Given the description of an element on the screen output the (x, y) to click on. 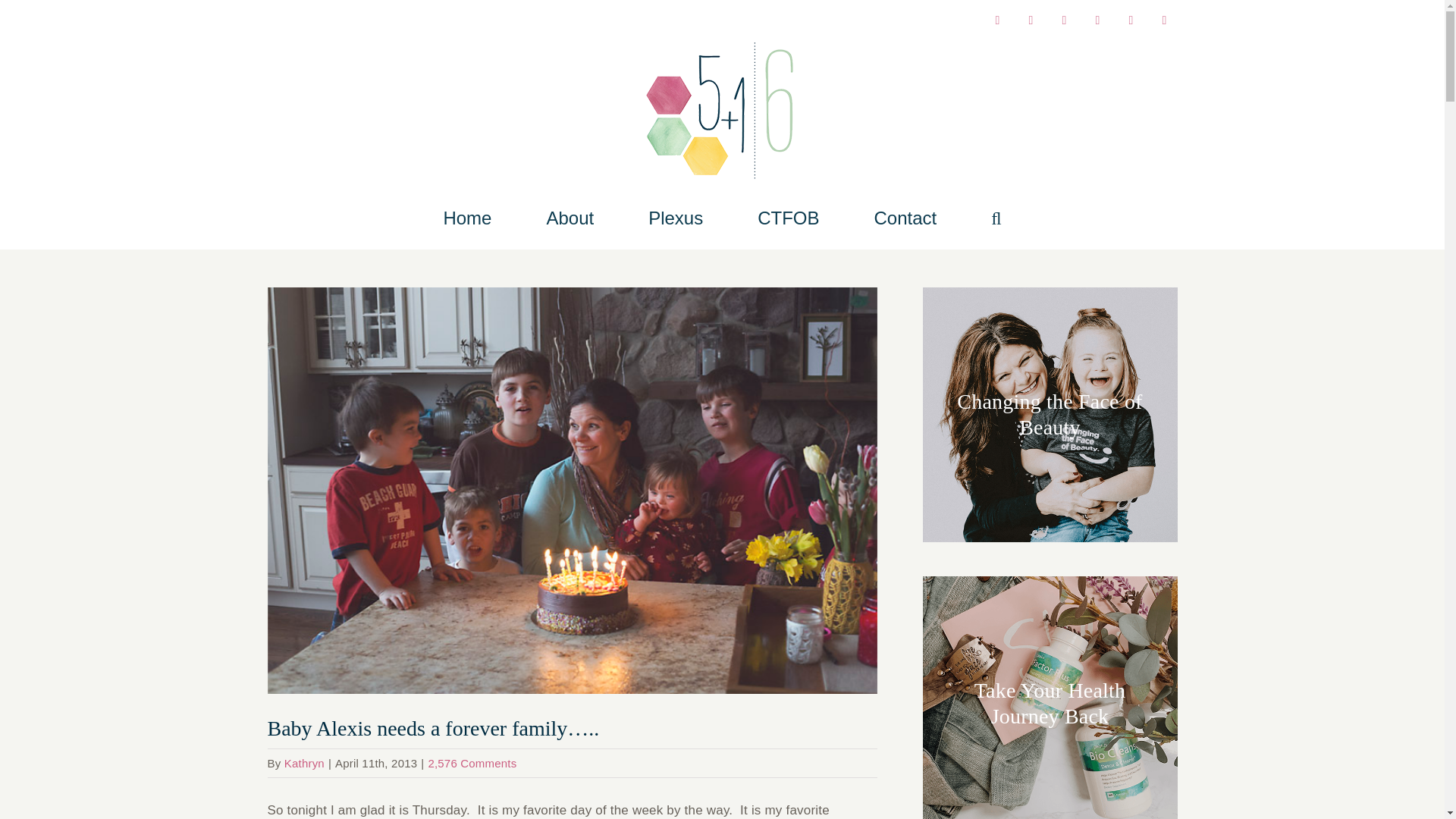
YouTube (1163, 20)
Plexus (675, 218)
Instagram (1030, 20)
Facebook (997, 20)
Vimeo (1130, 20)
CTFOB (787, 218)
Pinterest (1064, 20)
Pinterest (1064, 20)
Twitter (1096, 20)
Kathryn (303, 762)
